Given the description of an element on the screen output the (x, y) to click on. 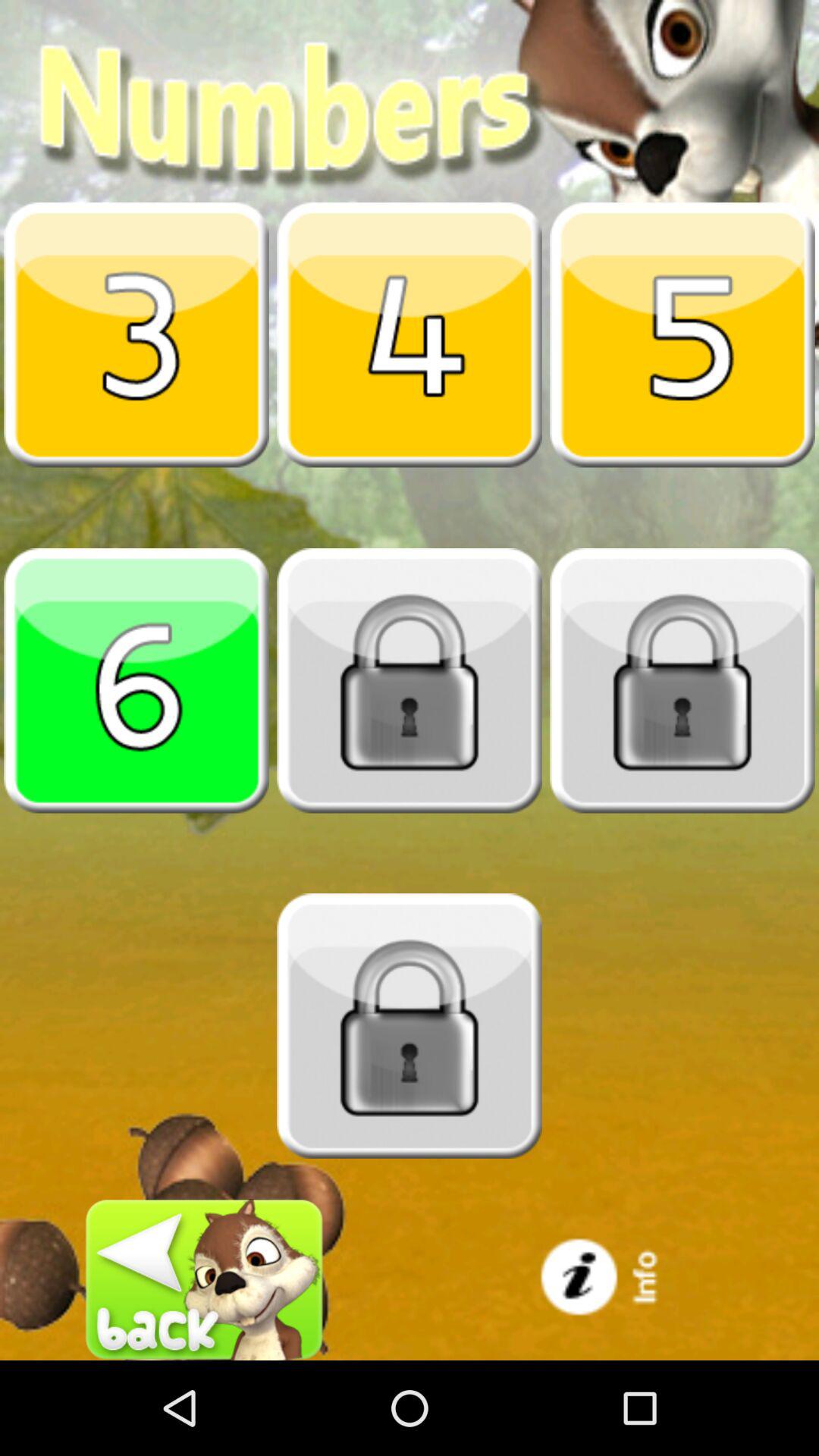
select lock button (682, 680)
